Given the description of an element on the screen output the (x, y) to click on. 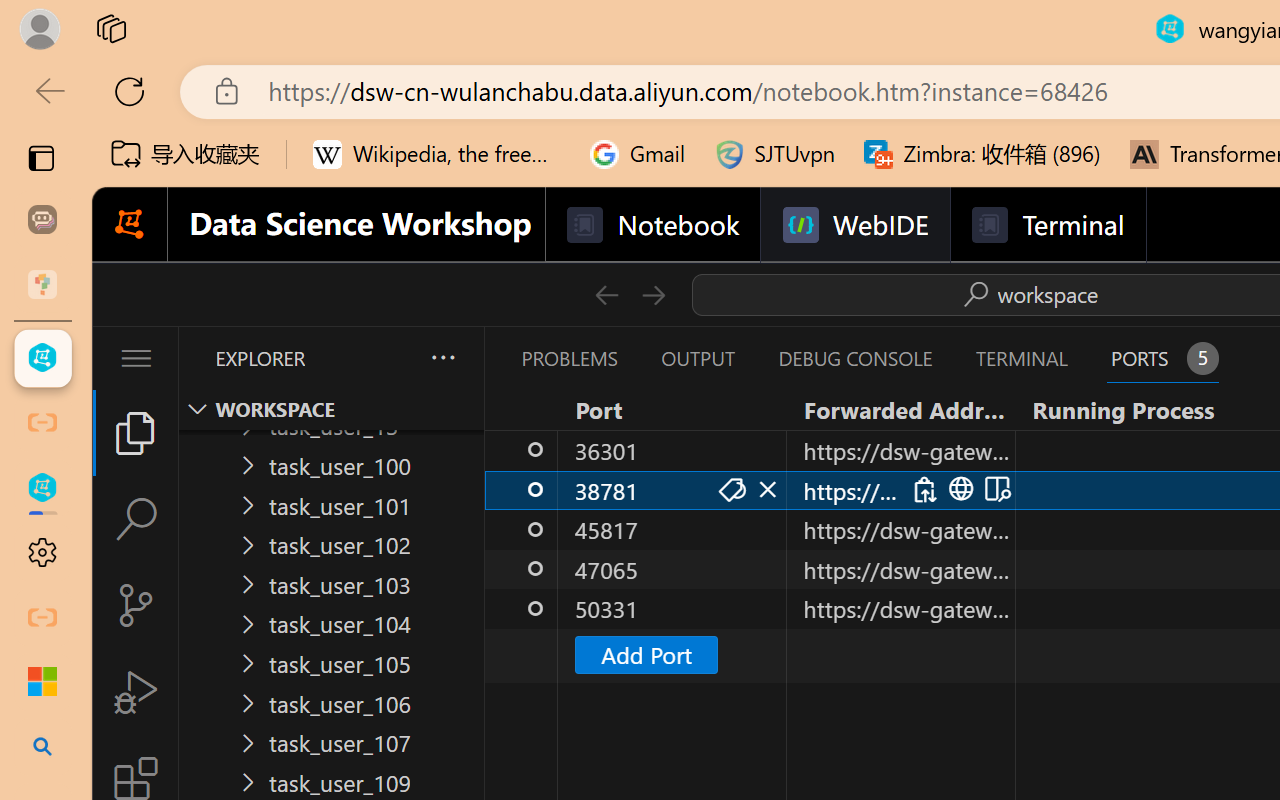
Open in Browser (958, 489)
Add Port (645, 654)
Explorer Section: workspace (331, 409)
Go Forward (Alt+RightArrow) (652, 294)
Notebook (652, 225)
Problems (Ctrl+Shift+M) (567, 358)
Class: actions-container (958, 489)
Debug Console (Ctrl+Shift+Y) (854, 358)
Run and Debug (Ctrl+Shift+D) (135, 692)
Copy Local Address (Ctrl+C) (923, 489)
Explorer (Ctrl+Shift+E) (135, 432)
Set Port Label (F2) (730, 489)
